Given the description of an element on the screen output the (x, y) to click on. 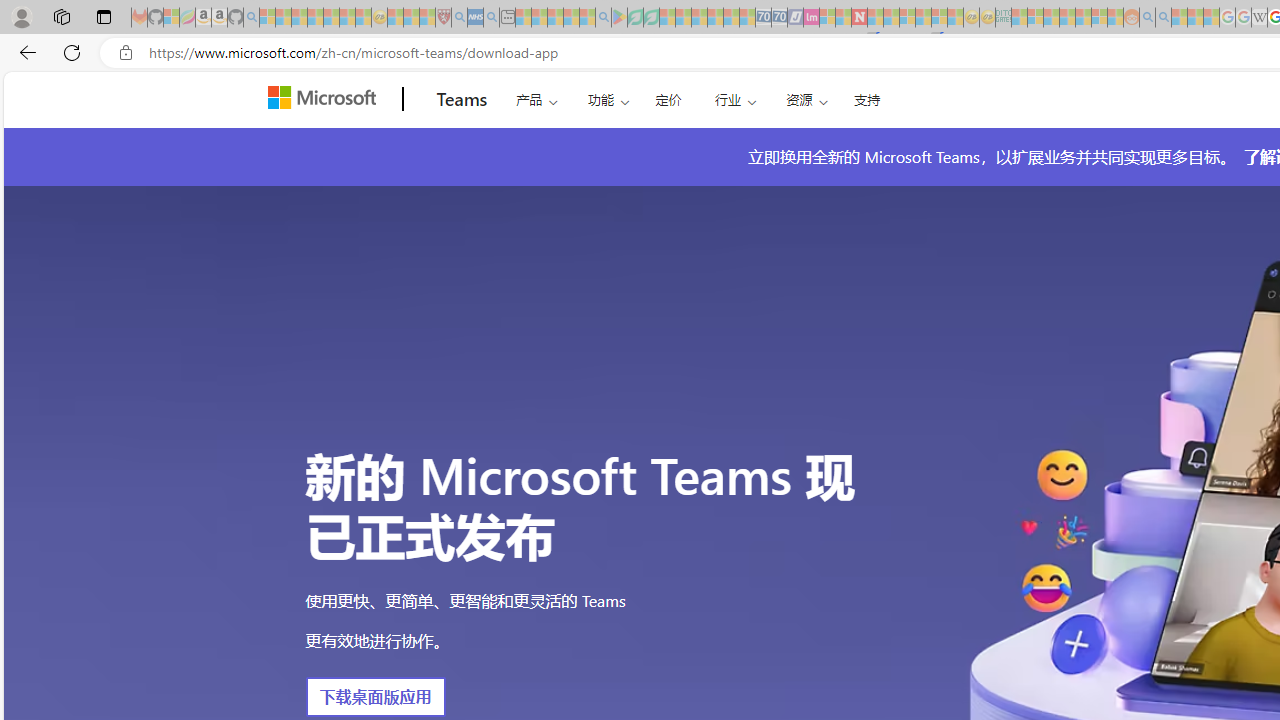
Teams (461, 99)
